Given the description of an element on the screen output the (x, y) to click on. 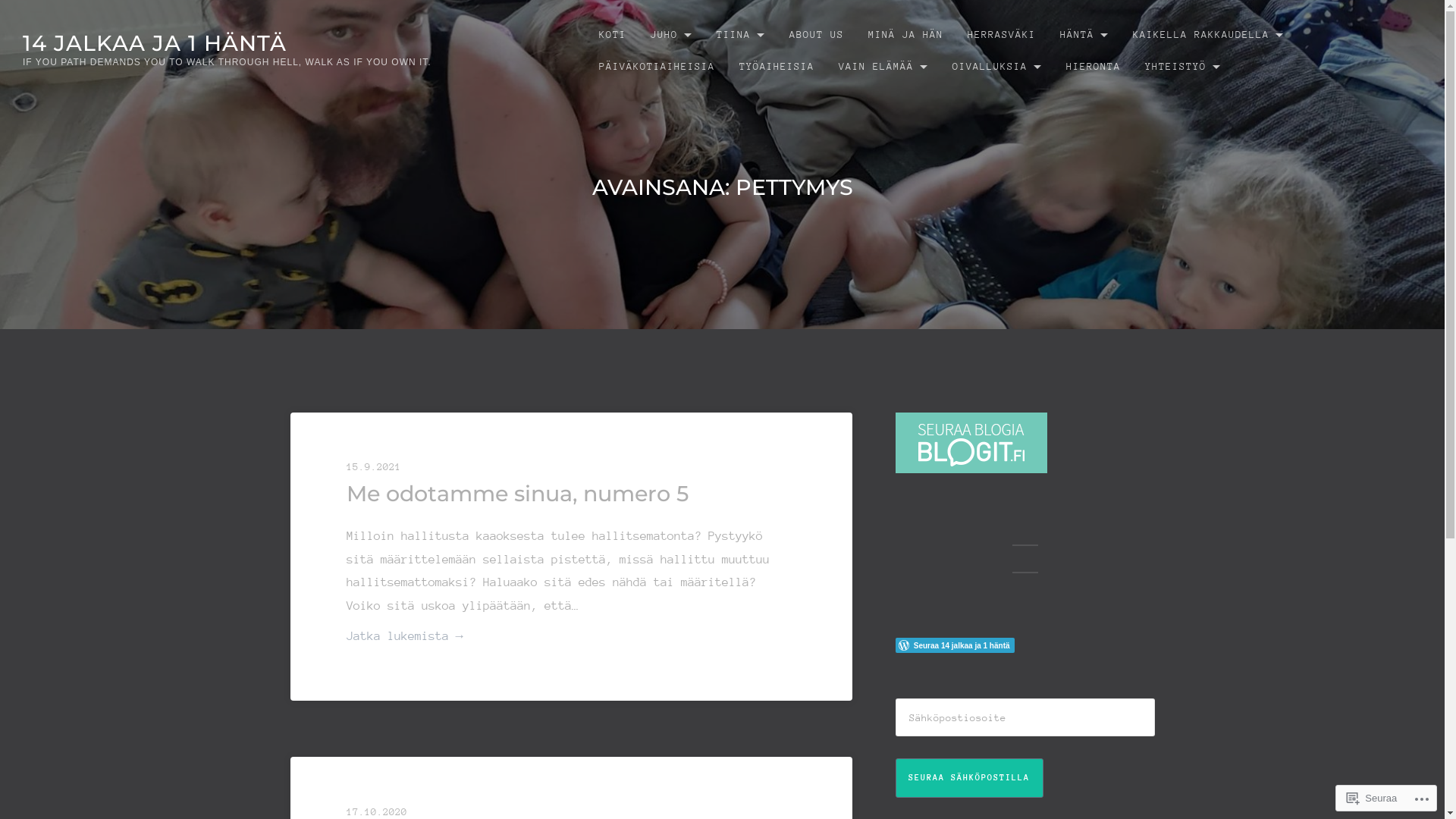
ABOUT US Element type: text (816, 34)
KAIKELLA RAKKAUDELLA Element type: text (1207, 34)
KOTI Element type: text (612, 34)
Follow Button Element type: hover (1024, 644)
JUHO Element type: text (671, 34)
15.9.2021 Element type: text (571, 466)
TIINA Element type: text (740, 34)
OIVALLUKSIA Element type: text (997, 66)
Me odotamme sinua, numero 5 Element type: text (517, 493)
Seuraa Element type: text (1371, 797)
HIERONTA Element type: text (1093, 66)
